Given the description of an element on the screen output the (x, y) to click on. 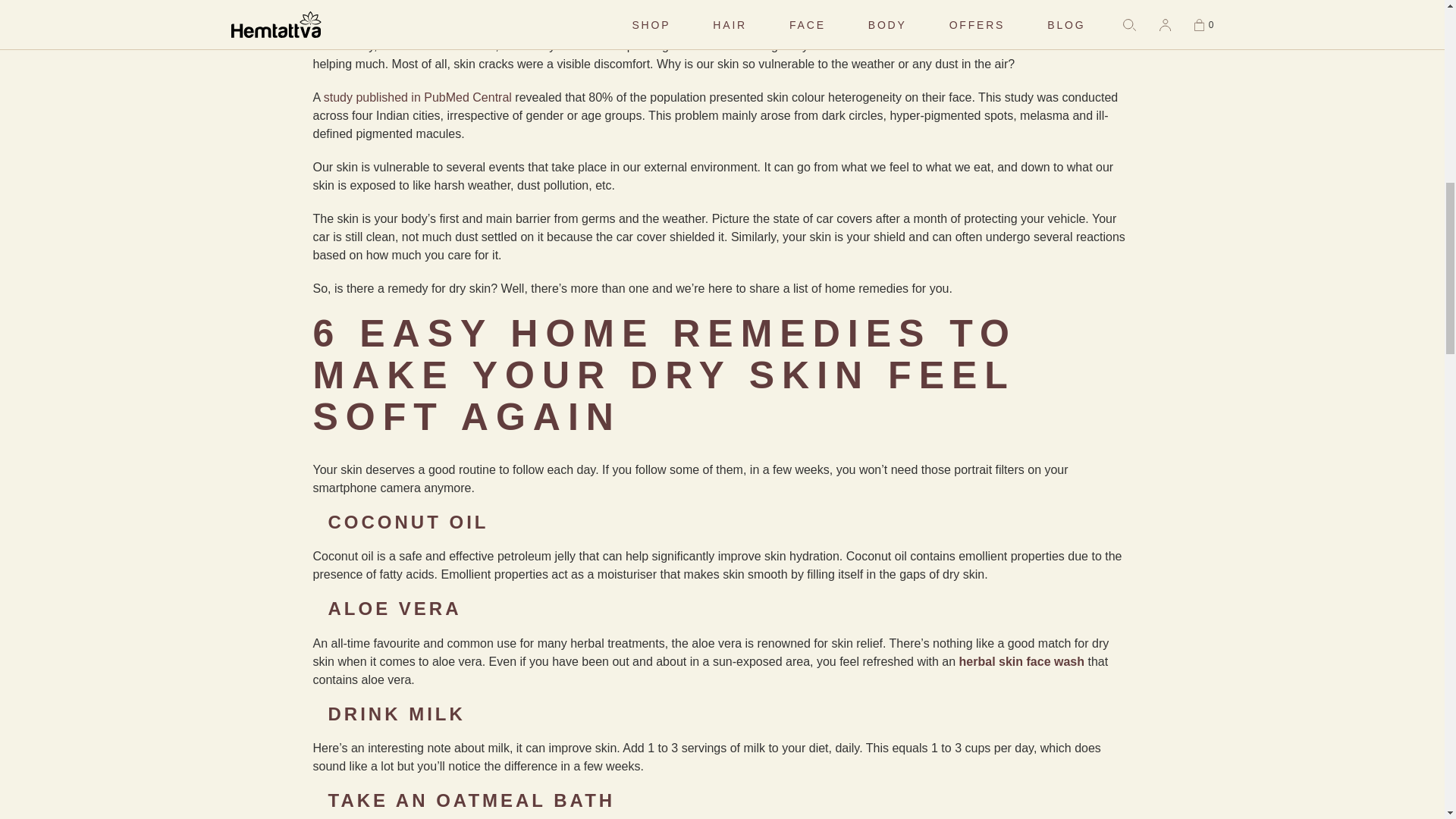
study published in PubMed Central (417, 97)
herbal skin face wash (1021, 661)
